Given the description of an element on the screen output the (x, y) to click on. 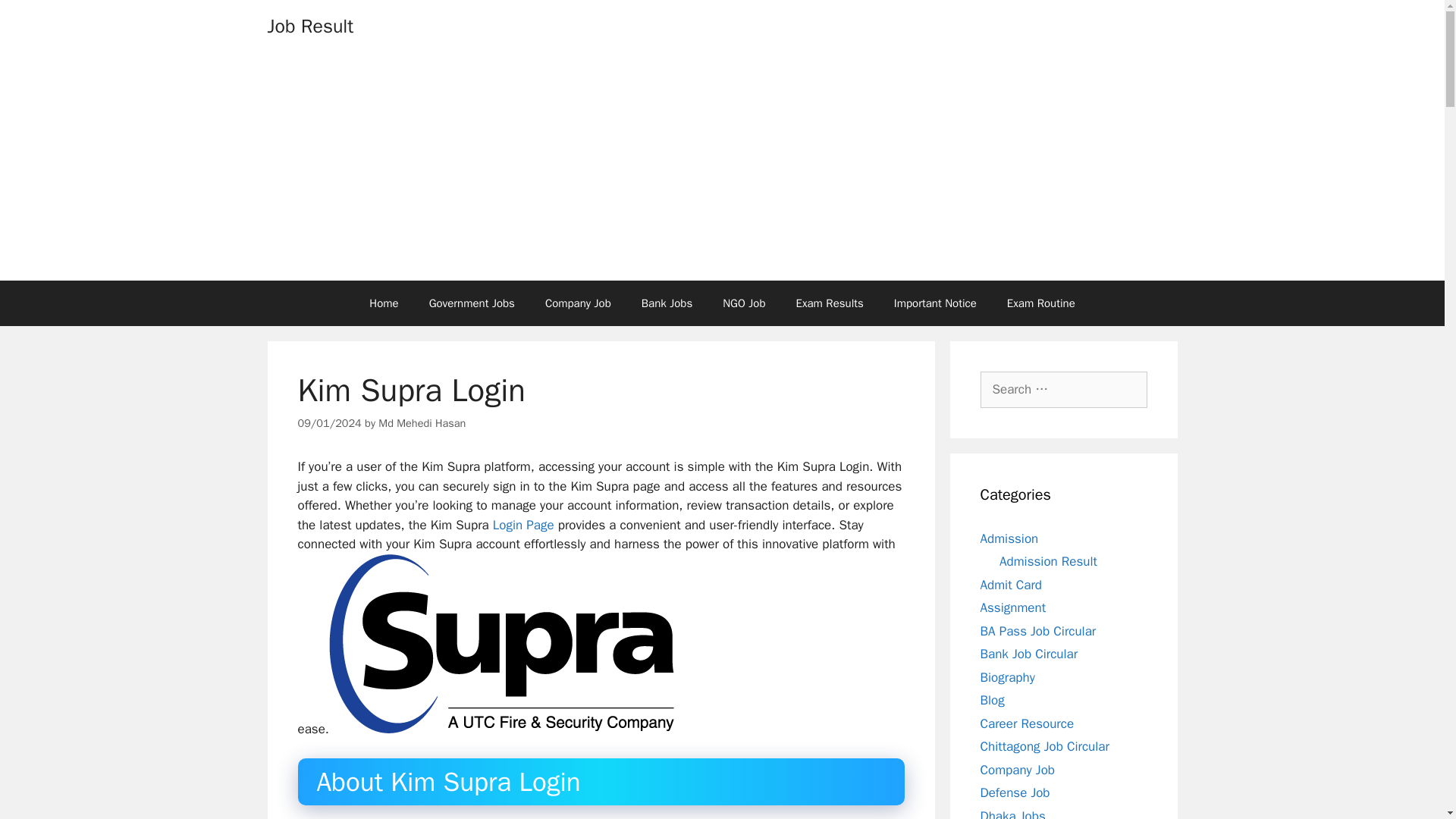
BA Pass Job Circular (1037, 631)
Biography (1006, 676)
Md Mehedi Hasan (421, 422)
Bank Job Circular (1028, 653)
Defense Job (1014, 792)
Admit Card (1010, 584)
Career Resource (1026, 723)
Assignment (1012, 607)
View all posts by Md Mehedi Hasan (421, 422)
Search (35, 18)
